Given the description of an element on the screen output the (x, y) to click on. 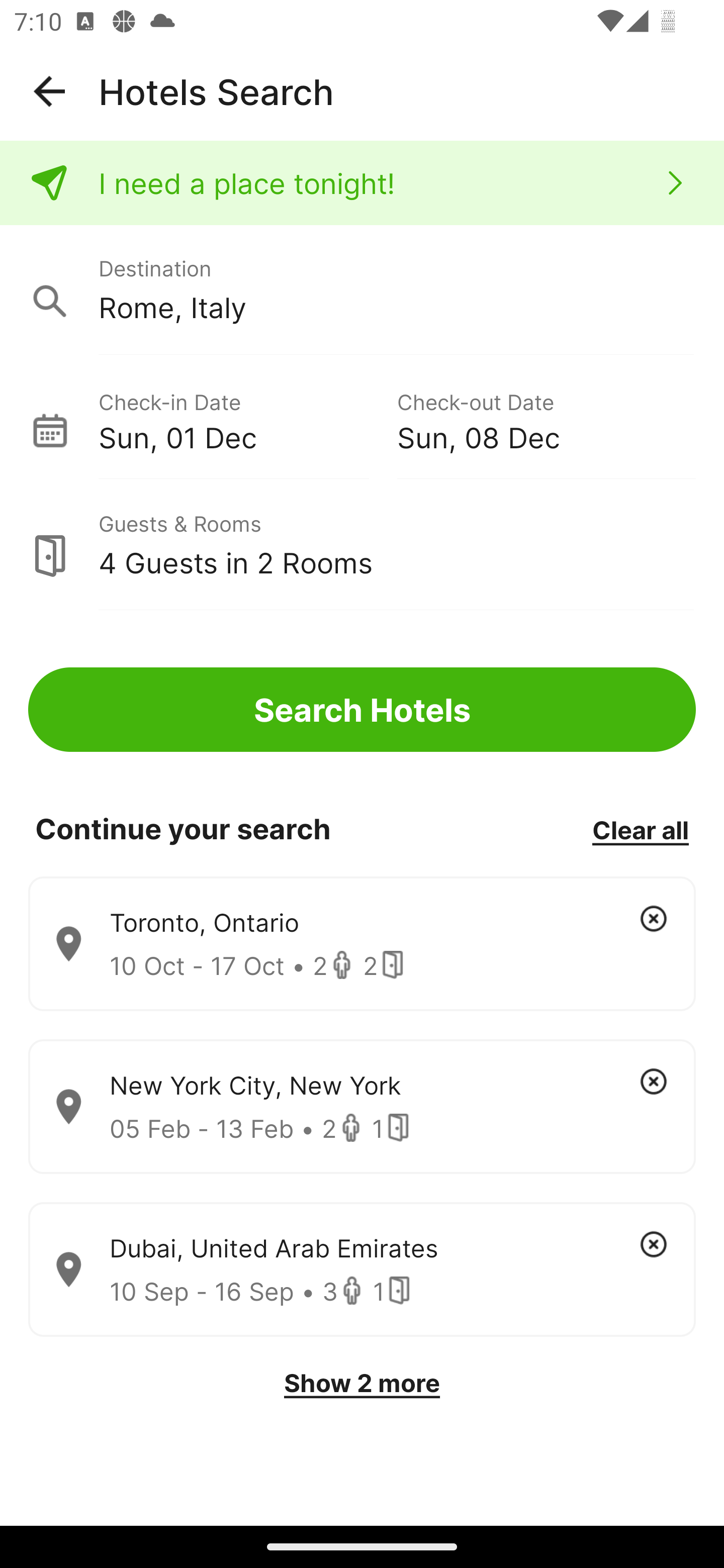
I need a place tonight! (362, 183)
Destination Rome, Italy (362, 290)
Check-in Date Sun, 01 Dec (247, 418)
Check-out Date Sun, 08 Dec (546, 418)
Guests & Rooms 4 Guests in 2 Rooms (362, 545)
Search Hotels (361, 709)
Clear all (640, 829)
Toronto, Ontario 10 Oct - 17 Oct • 2  2  (361, 943)
New York City, New York 05 Feb - 13 Feb • 2  1  (361, 1106)
Show 2 more (362, 1382)
